Given the description of an element on the screen output the (x, y) to click on. 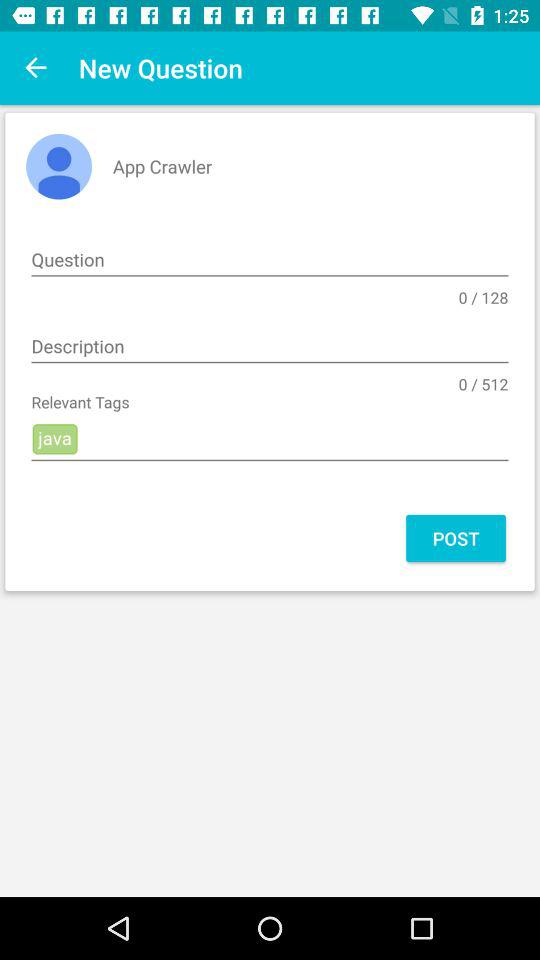
turn on the item above the post item (269, 439)
